Given the description of an element on the screen output the (x, y) to click on. 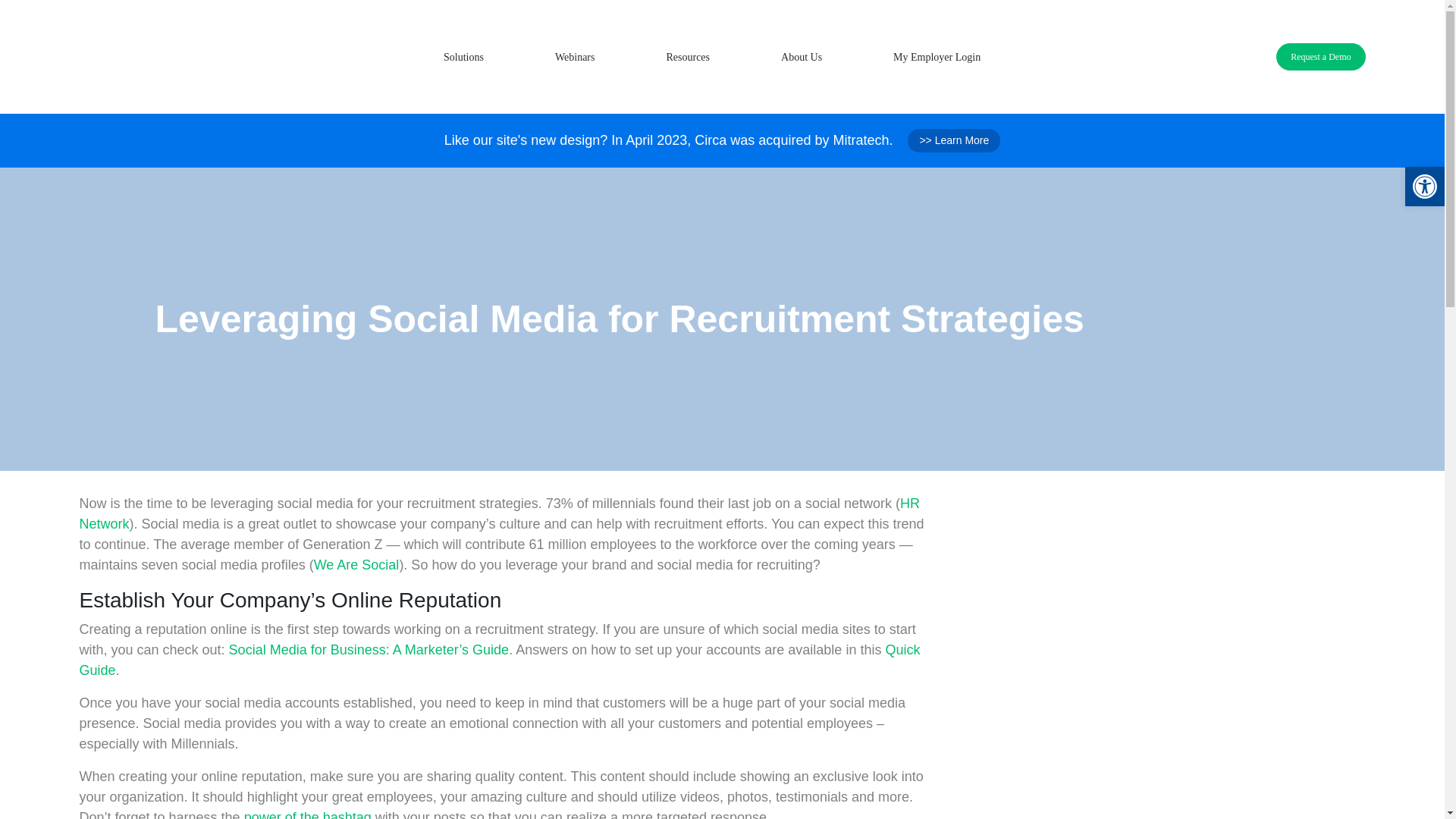
My Employer Login (937, 57)
Request a Demo (1320, 56)
Accessibility Tools (1424, 186)
